Given the description of an element on the screen output the (x, y) to click on. 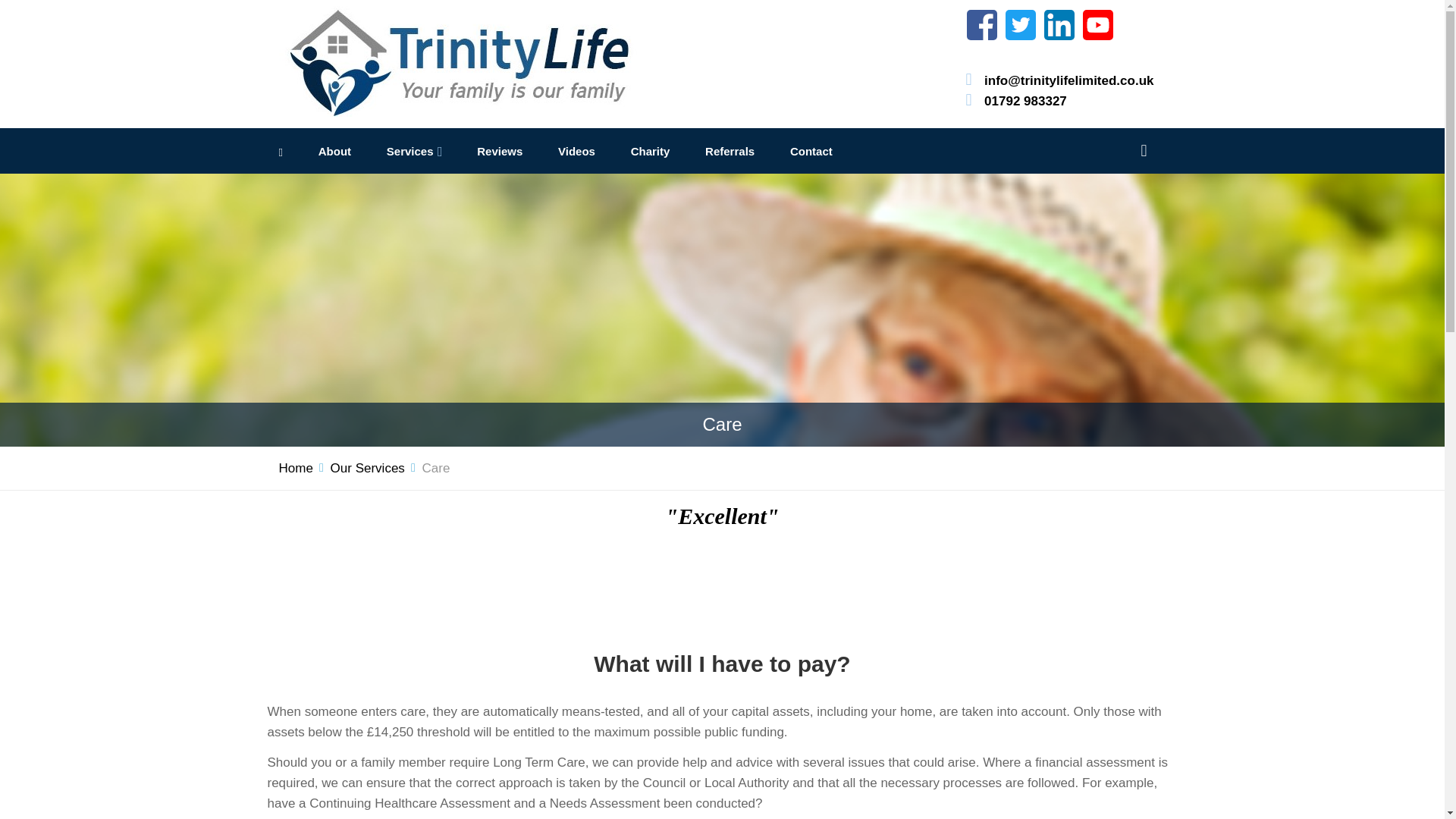
Twitter (1020, 24)
Charity (649, 151)
Services (410, 151)
Contact (811, 151)
Reviews (499, 151)
Customer reviews powered by Trustpilot (722, 583)
YouTube (1098, 24)
Home (296, 467)
LinkedIn (1058, 24)
About (334, 151)
01792 983327 (1025, 100)
Our Services (367, 467)
Referrals (729, 151)
Videos (576, 151)
